Given the description of an element on the screen output the (x, y) to click on. 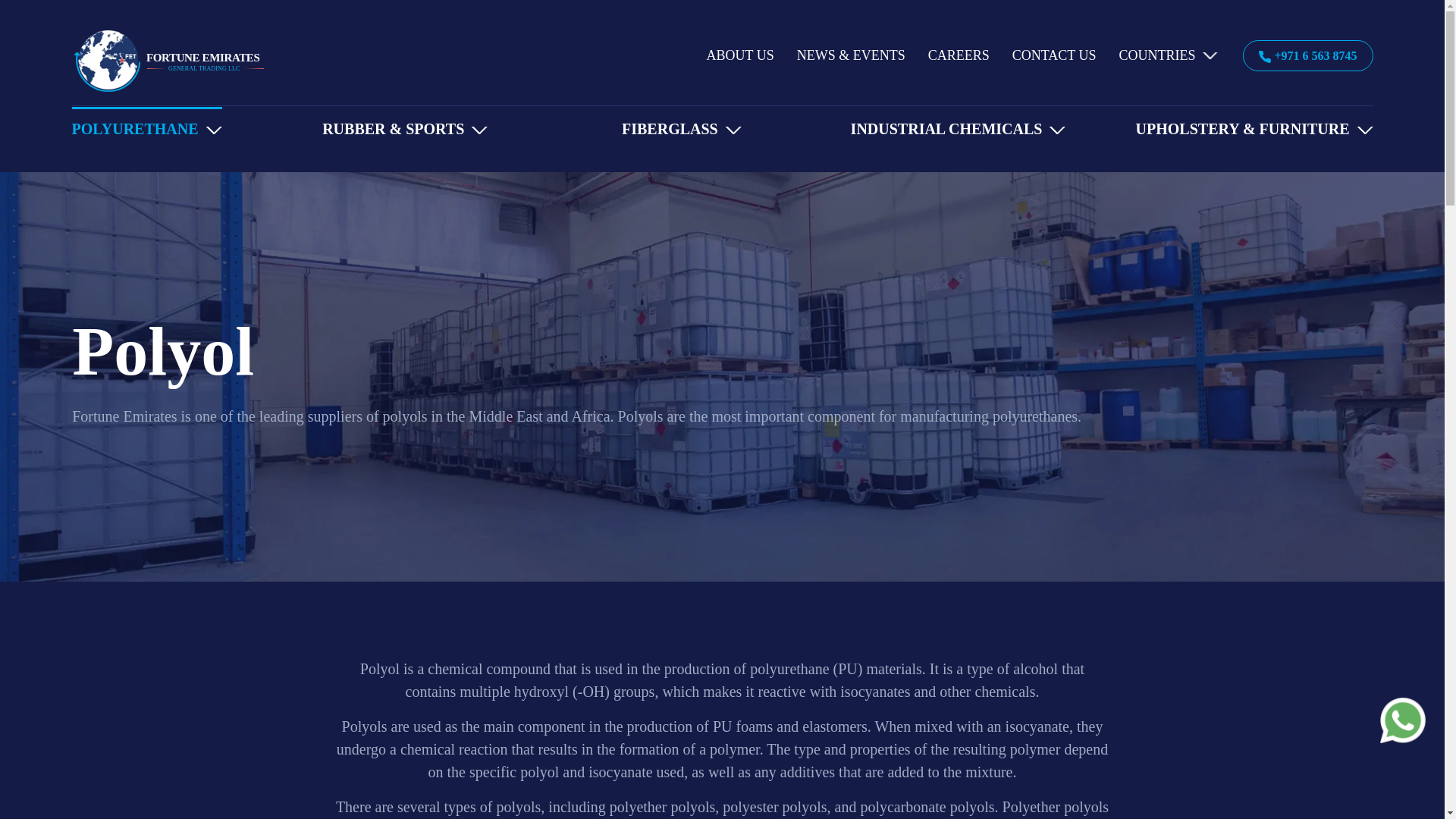
CONTACT US (1053, 55)
CAREERS (959, 55)
ABOUT US (740, 55)
COUNTRIES (1168, 55)
